Given the description of an element on the screen output the (x, y) to click on. 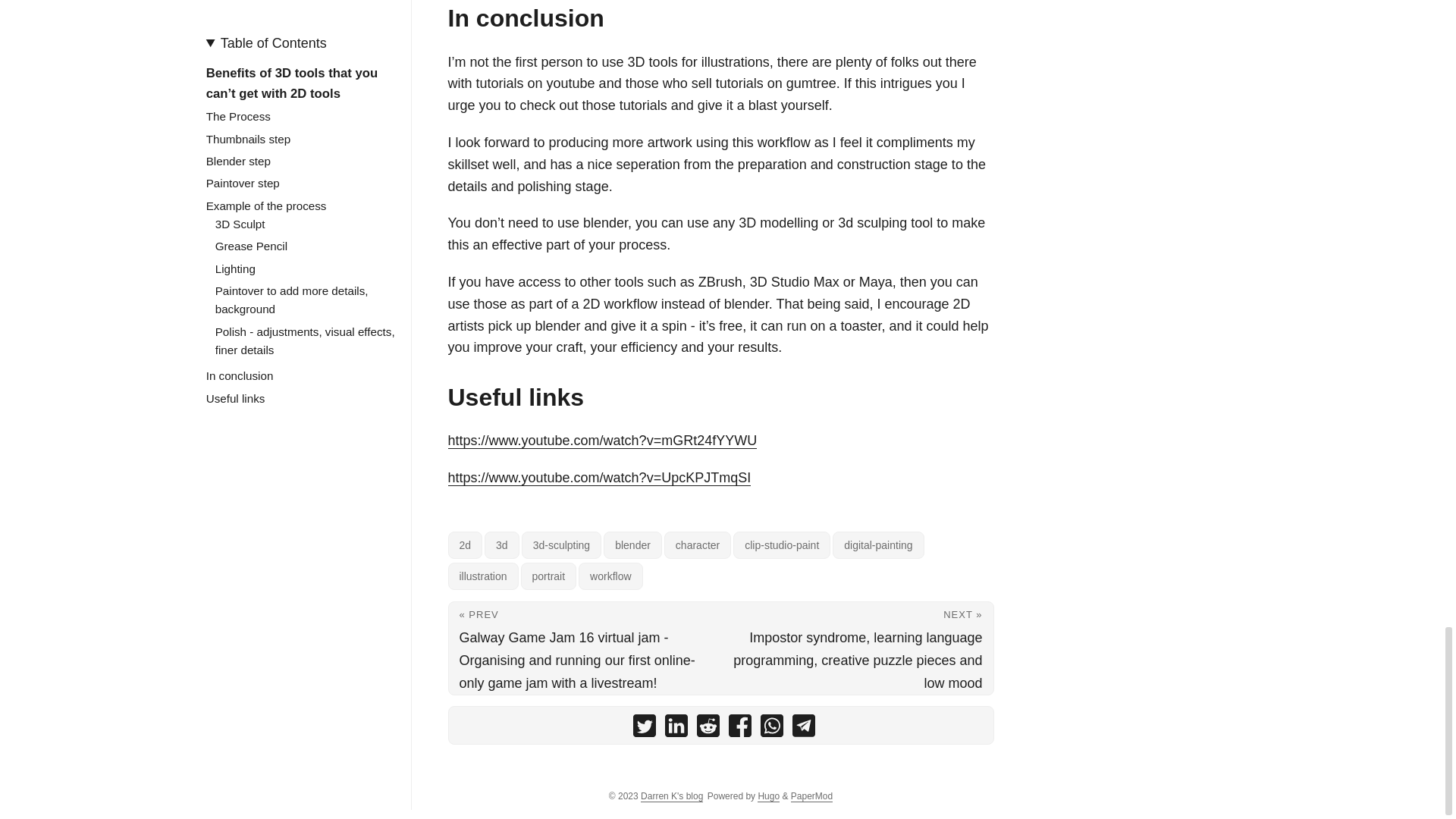
2d (463, 544)
3d (501, 544)
portrait (548, 575)
3d-sculpting (561, 544)
clip-studio-paint (781, 544)
blender (633, 544)
character (696, 544)
illustration (482, 575)
workflow (610, 575)
digital-painting (877, 544)
